Given the description of an element on the screen output the (x, y) to click on. 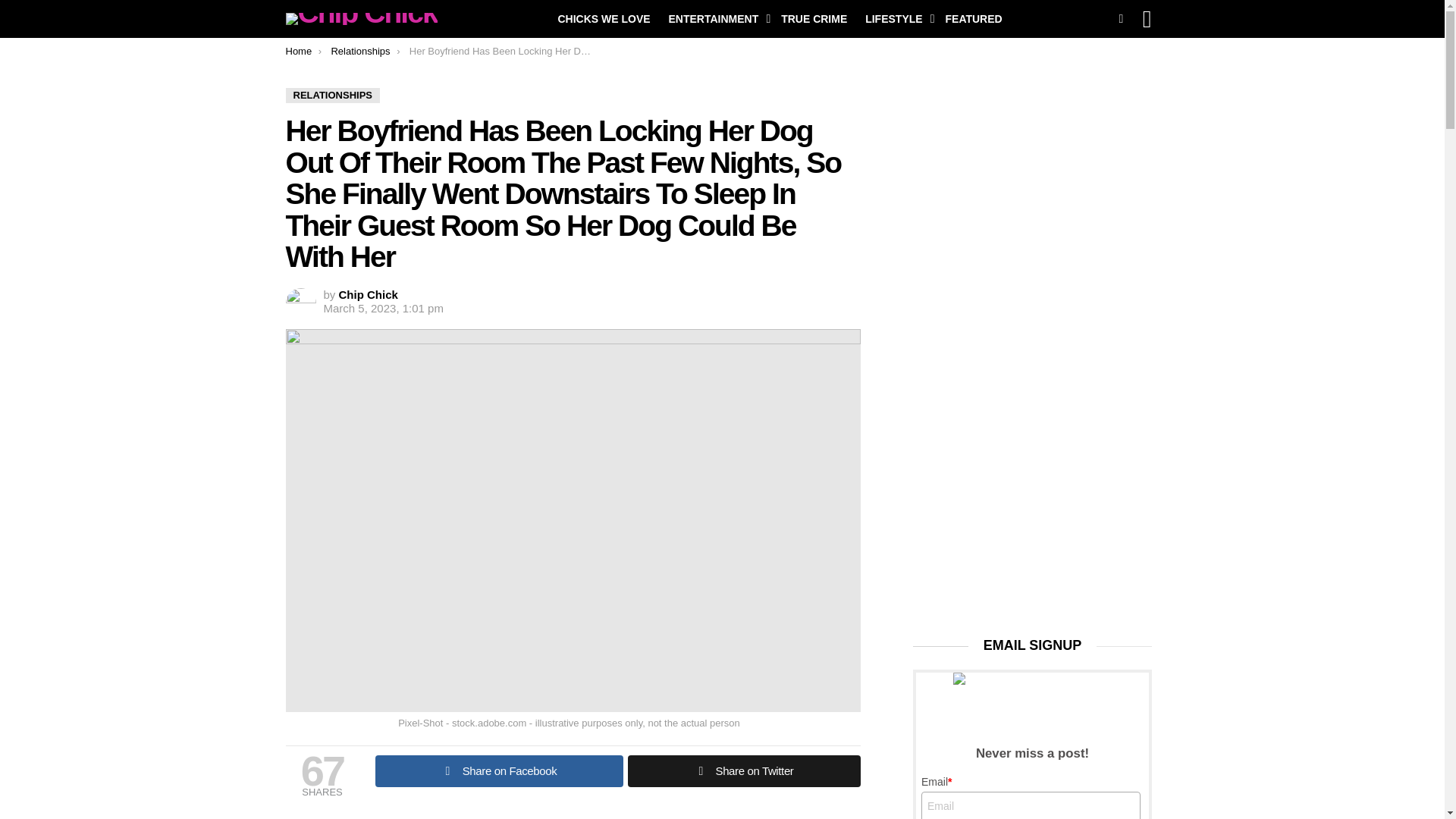
Posts by Chip Chick (368, 294)
TRUE CRIME (813, 18)
CHICKS WE LOVE (604, 18)
FEATURED (973, 18)
ENTERTAINMENT (716, 18)
Email (1030, 805)
LIFESTYLE (895, 18)
